Given the description of an element on the screen output the (x, y) to click on. 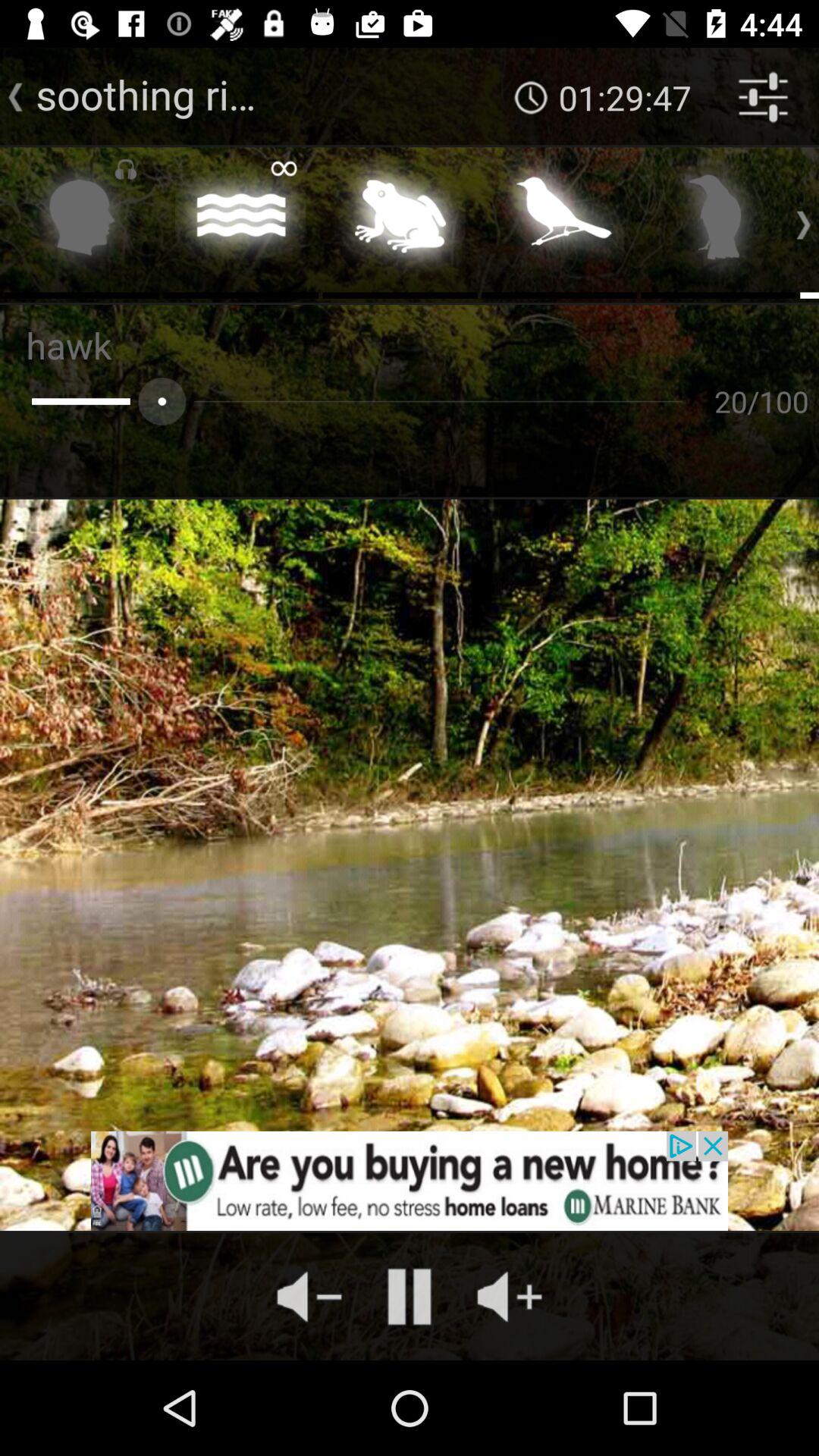
listen (81, 221)
